Given the description of an element on the screen output the (x, y) to click on. 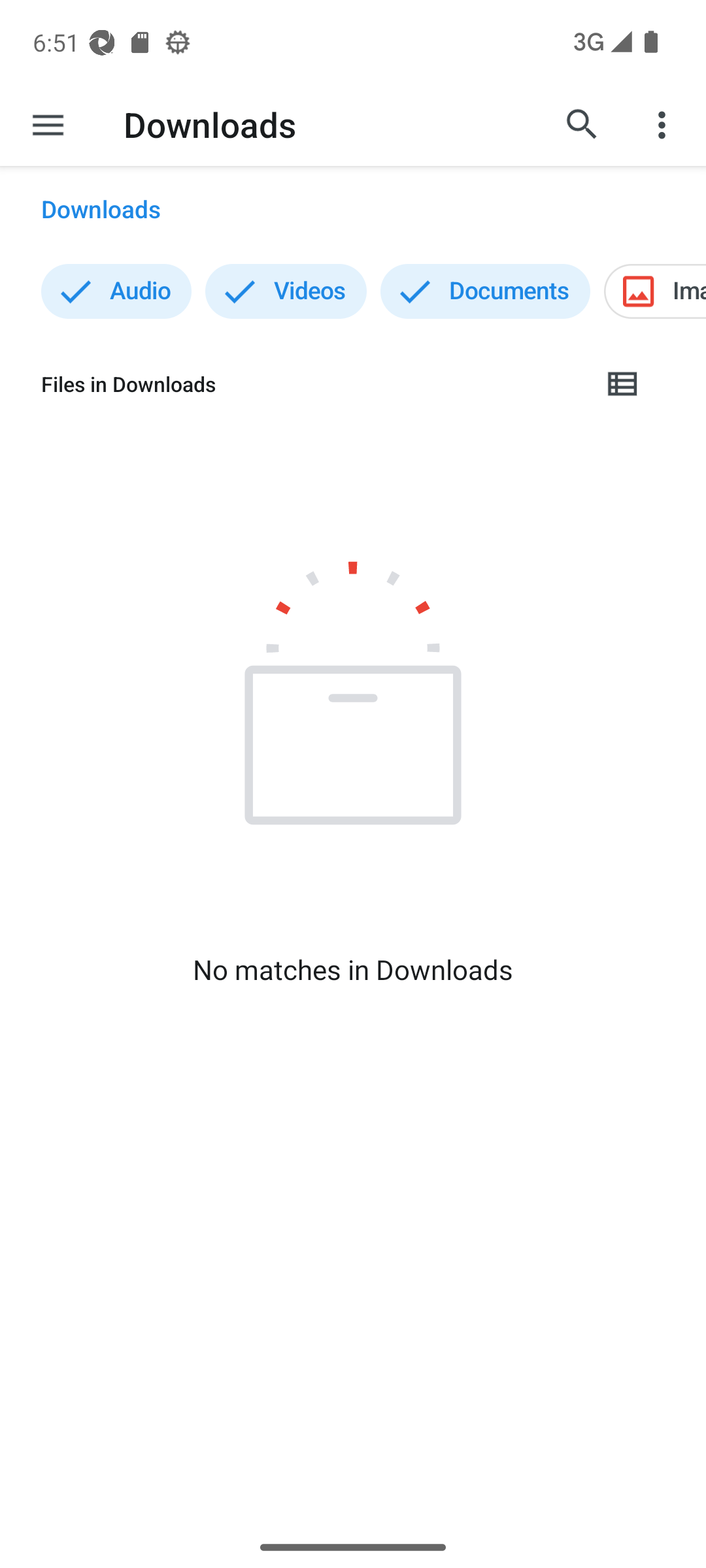
Show roots (48, 124)
Search (581, 124)
More options (664, 124)
Audio (115, 291)
Videos (285, 291)
Documents (485, 291)
Images (655, 291)
List view (623, 383)
